Given the description of an element on the screen output the (x, y) to click on. 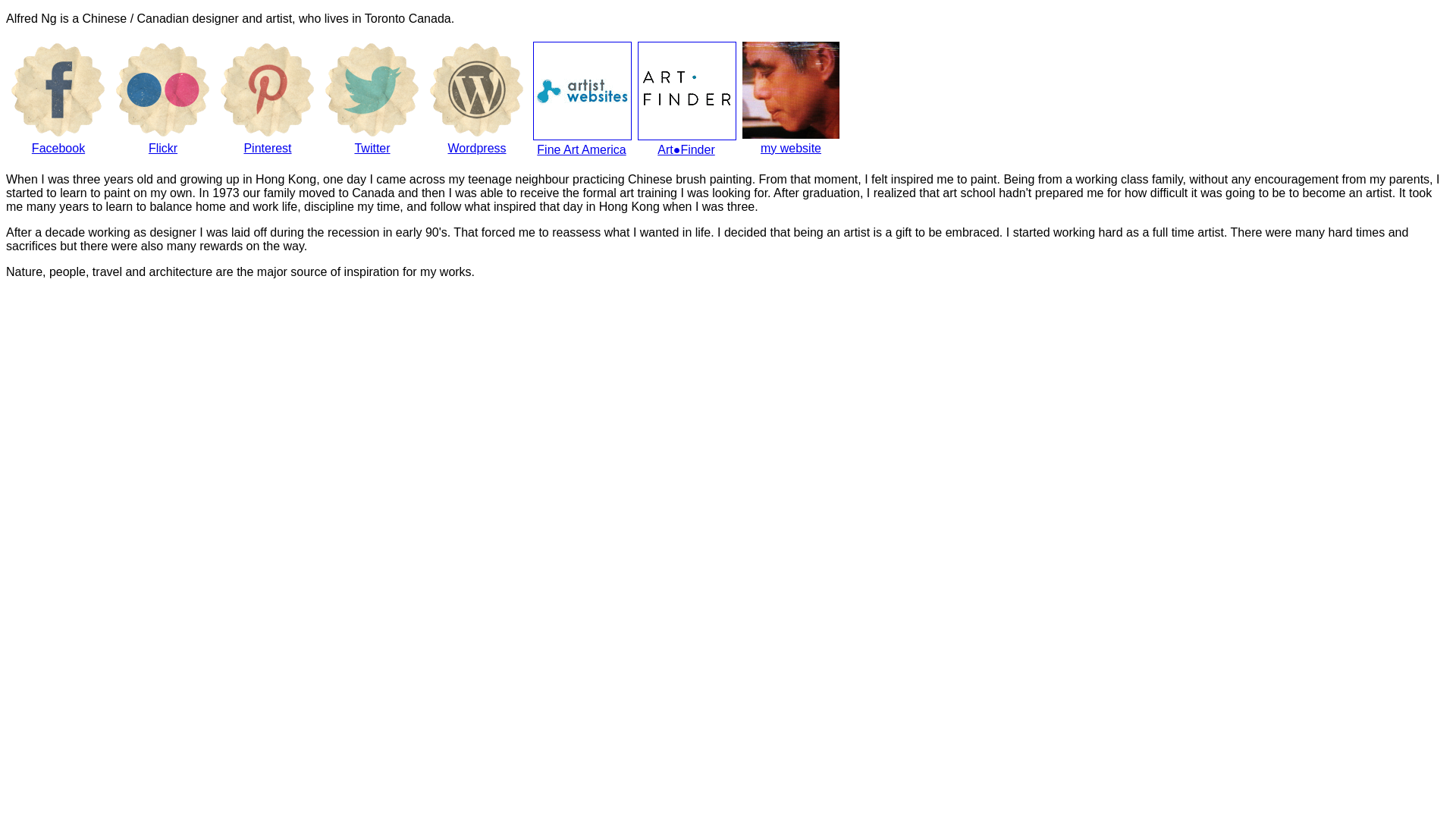
Pinterest Element type: hover (267, 89)
Facebook Element type: hover (57, 89)
Flickr Element type: hover (162, 89)
Art Finder Element type: hover (686, 90)
website Element type: hover (790, 89)
Twitter Element type: text (371, 98)
Pinterest Element type: text (267, 98)
Flickr Element type: text (162, 98)
my website Element type: text (790, 98)
Wordpress Element type: text (476, 98)
Facebook Element type: text (57, 98)
Fine Art America Element type: text (581, 98)
Fine Art America Element type: hover (582, 90)
Wordpress Element type: hover (476, 89)
Twitter Element type: hover (371, 89)
